Given the description of an element on the screen output the (x, y) to click on. 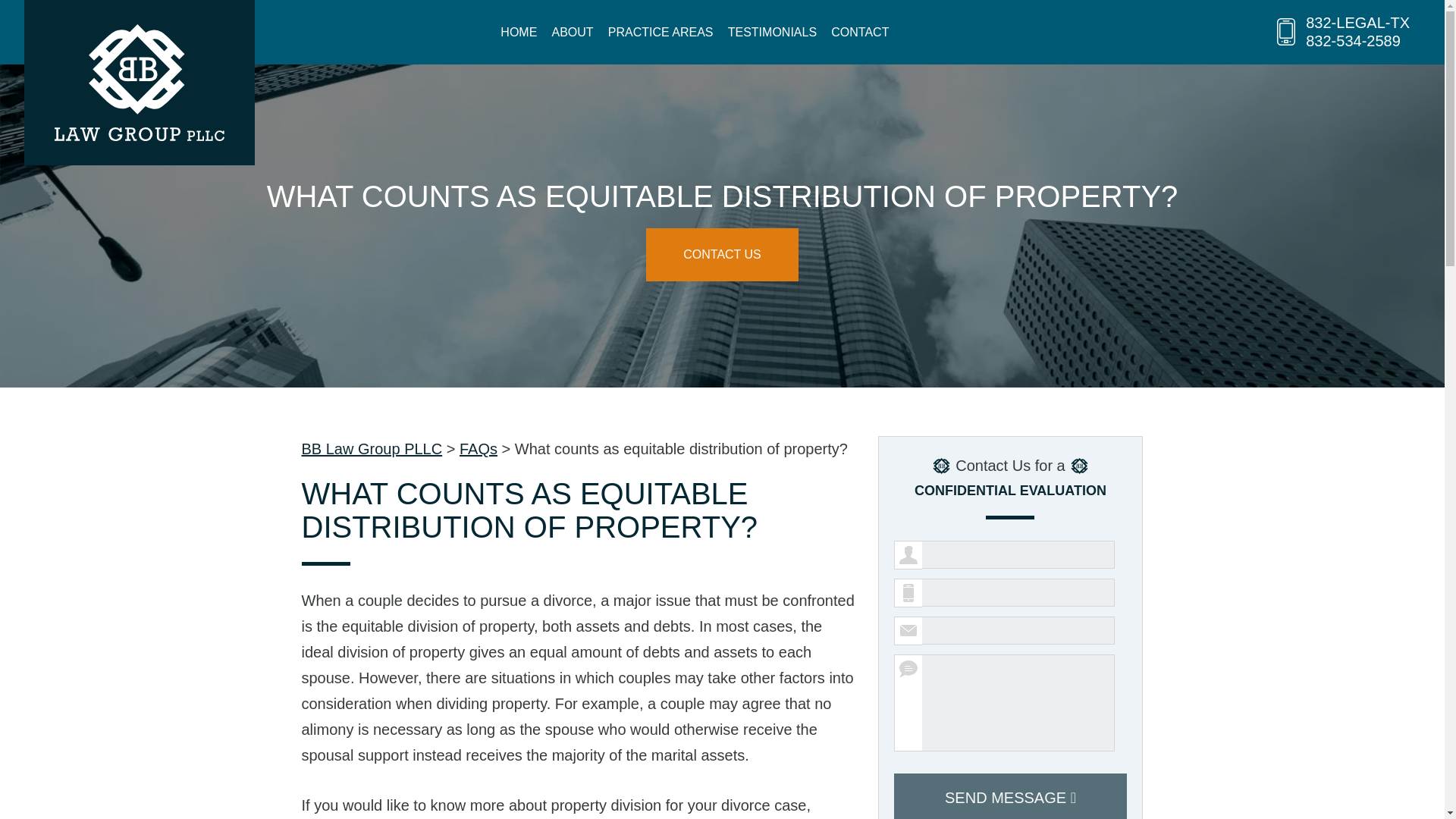
PRACTICE AREAS (660, 32)
FAQs (478, 448)
Go to FAQs. (478, 448)
CONTACT (859, 32)
TESTIMONIALS (772, 32)
CONTACT US (721, 254)
BB Law Group PLLC (371, 448)
Go to BB Law Group PLLC. (371, 448)
